Given the description of an element on the screen output the (x, y) to click on. 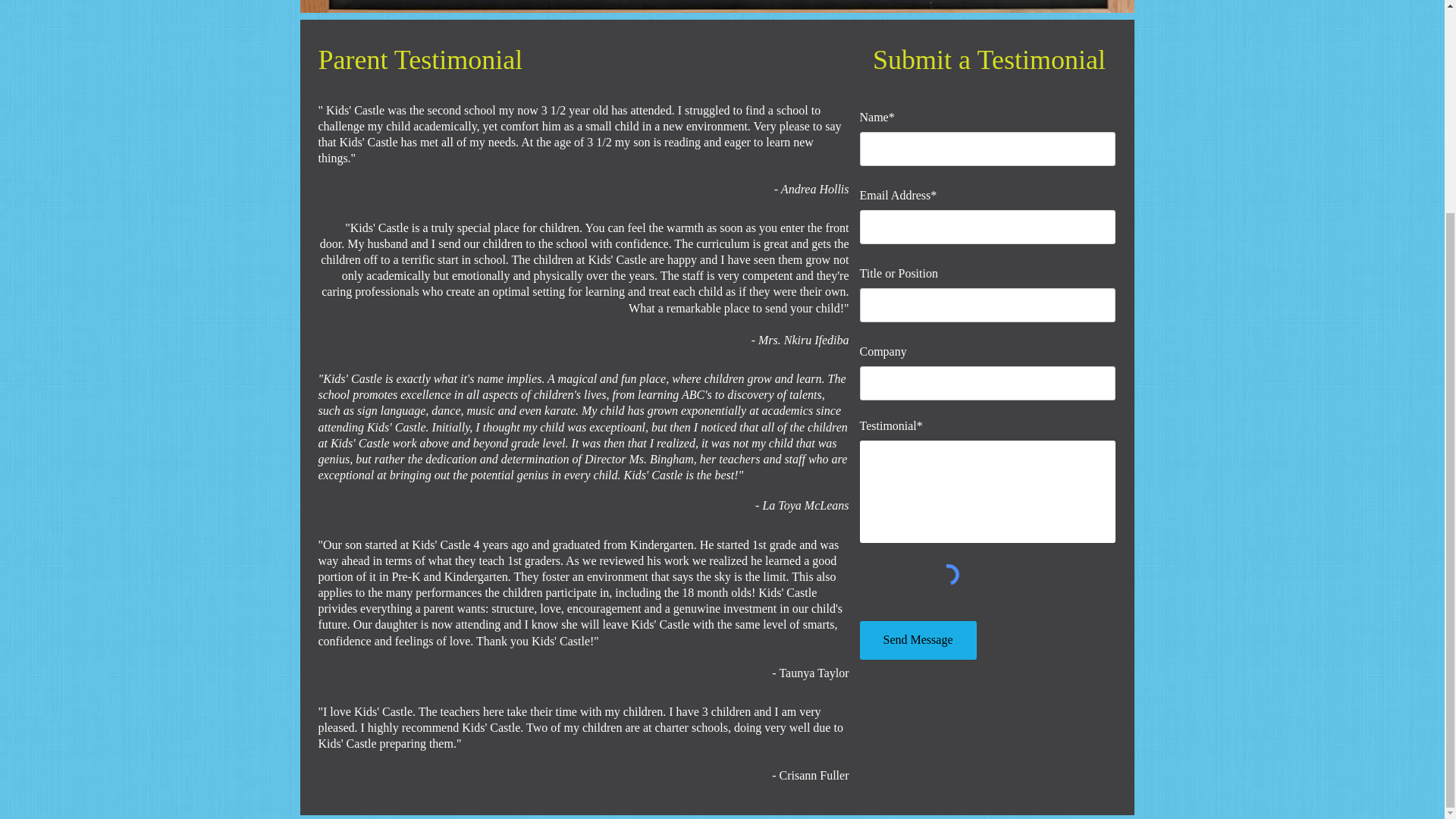
Send Message (918, 640)
